Given the description of an element on the screen output the (x, y) to click on. 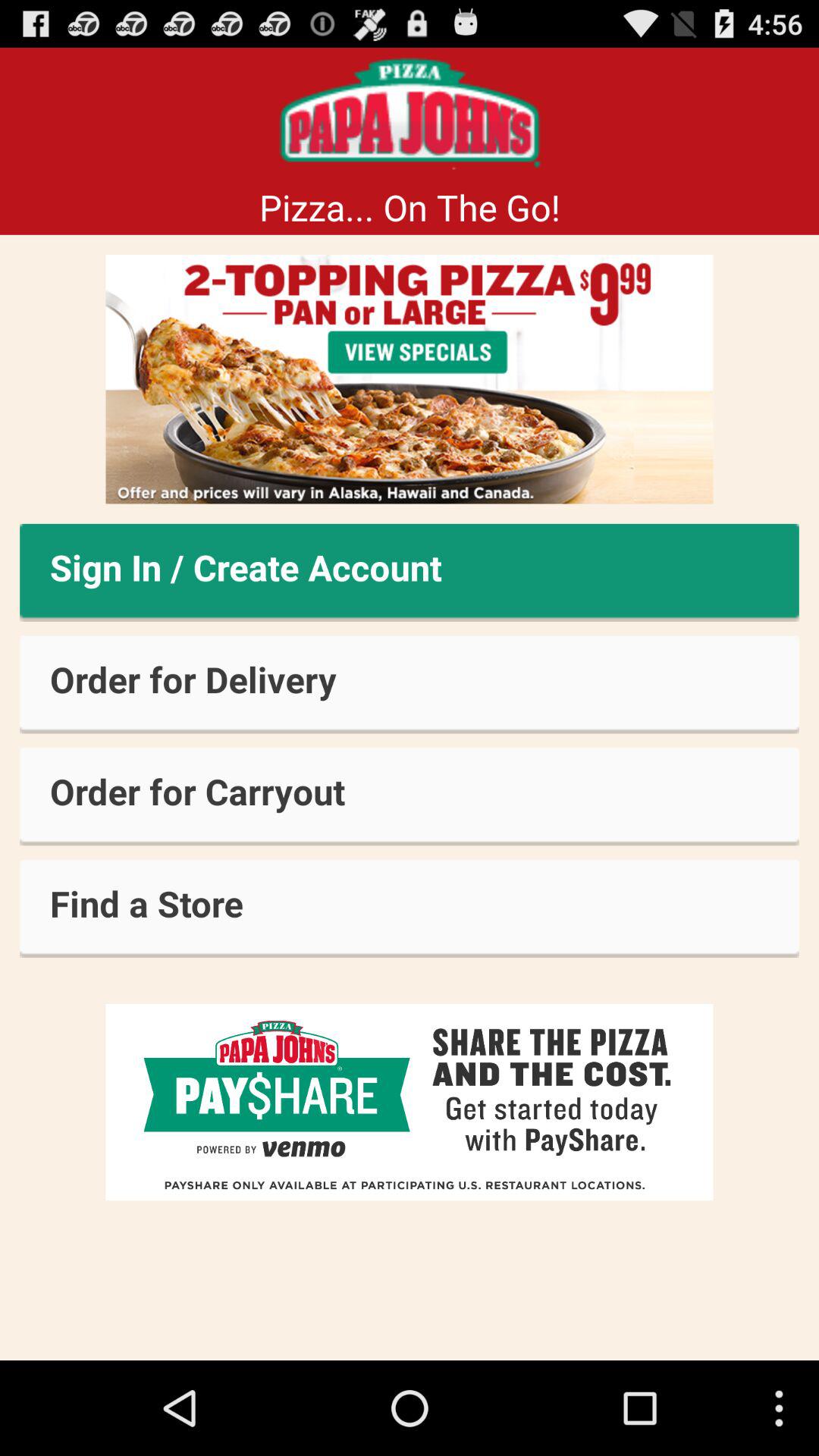
turn on icon below pizza on the item (409, 378)
